Given the description of an element on the screen output the (x, y) to click on. 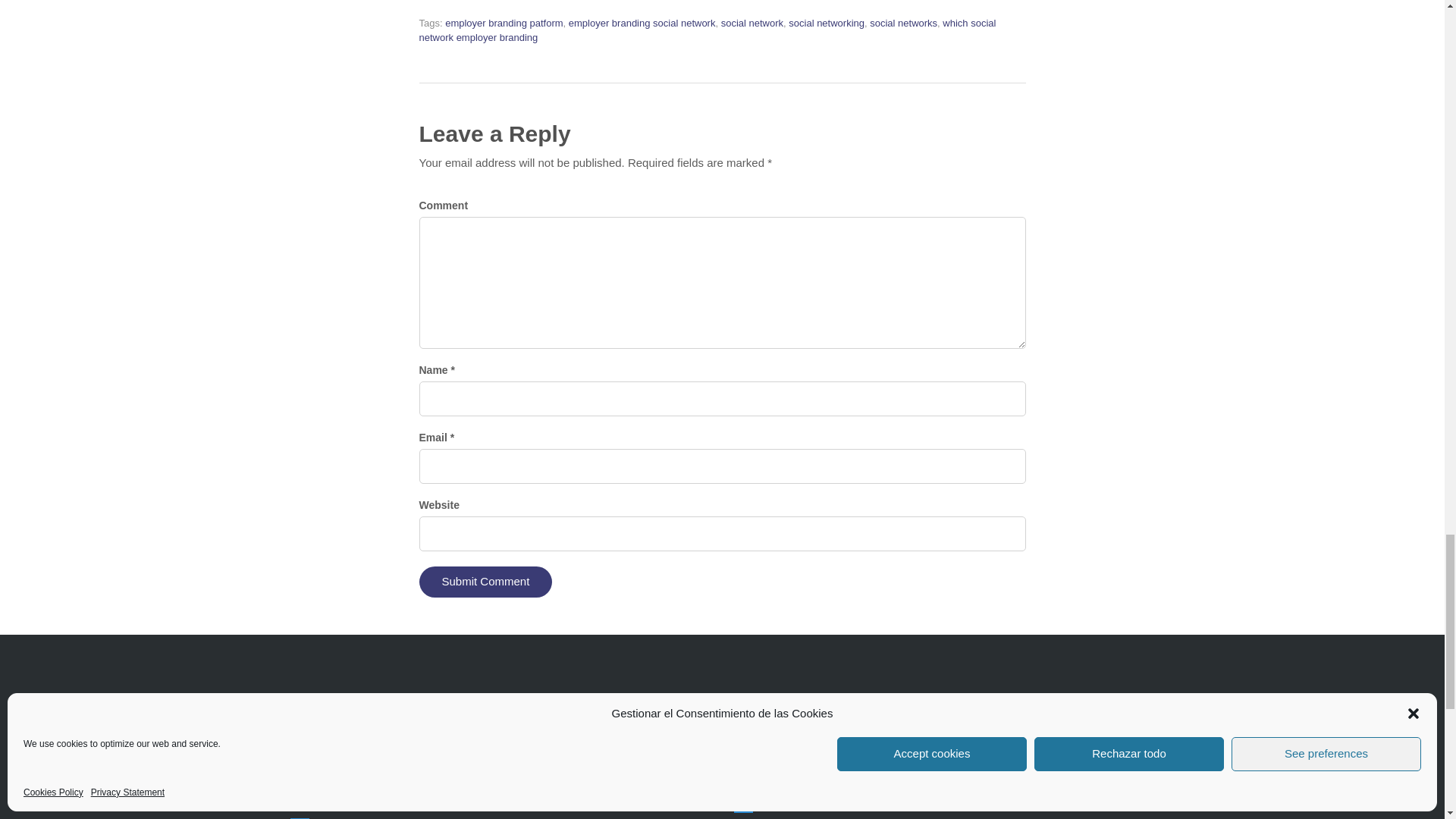
Submit Comment (485, 581)
